Given the description of an element on the screen output the (x, y) to click on. 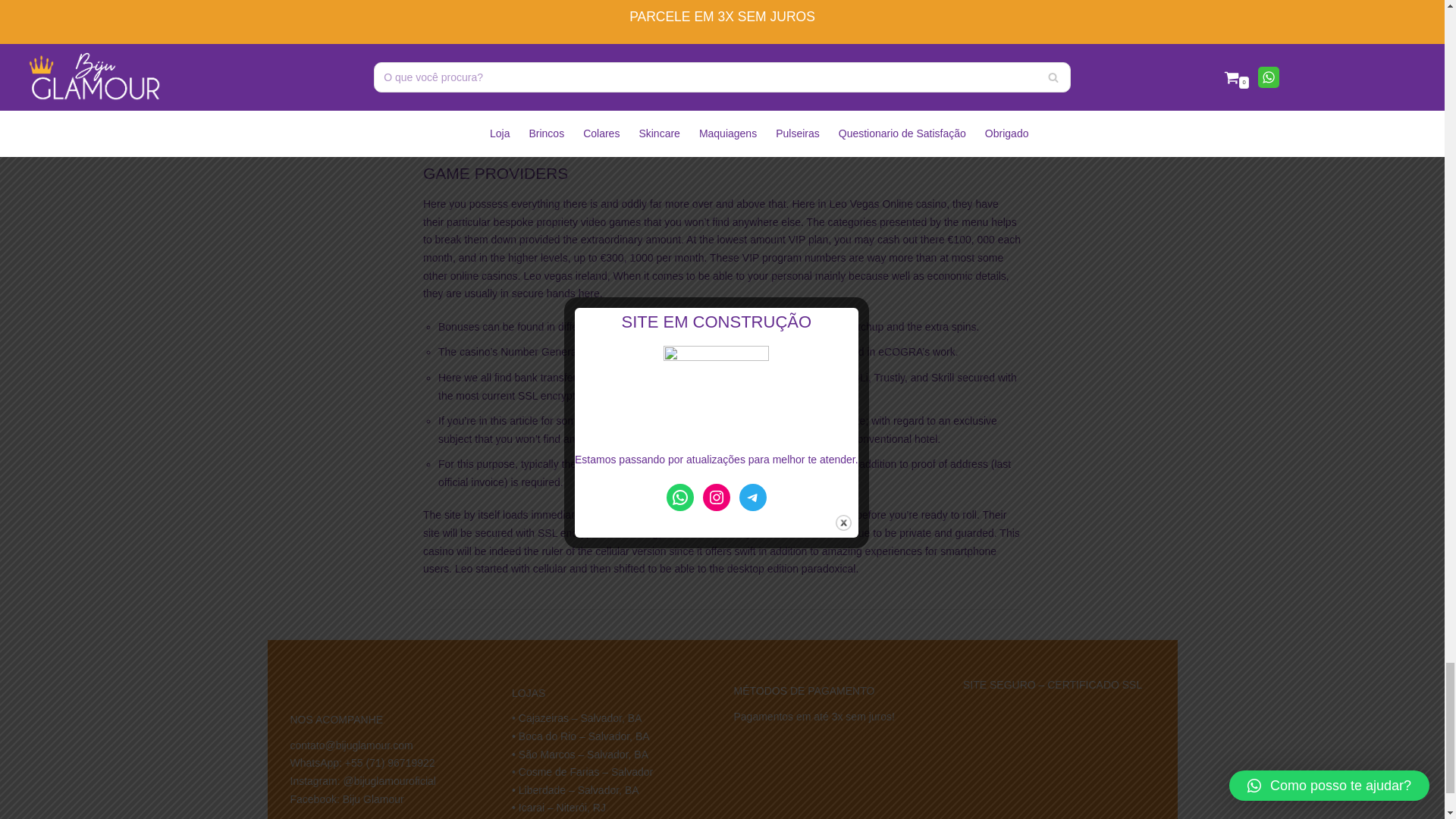
Site Seguro - Certificado SSL (1054, 739)
